Given the description of an element on the screen output the (x, y) to click on. 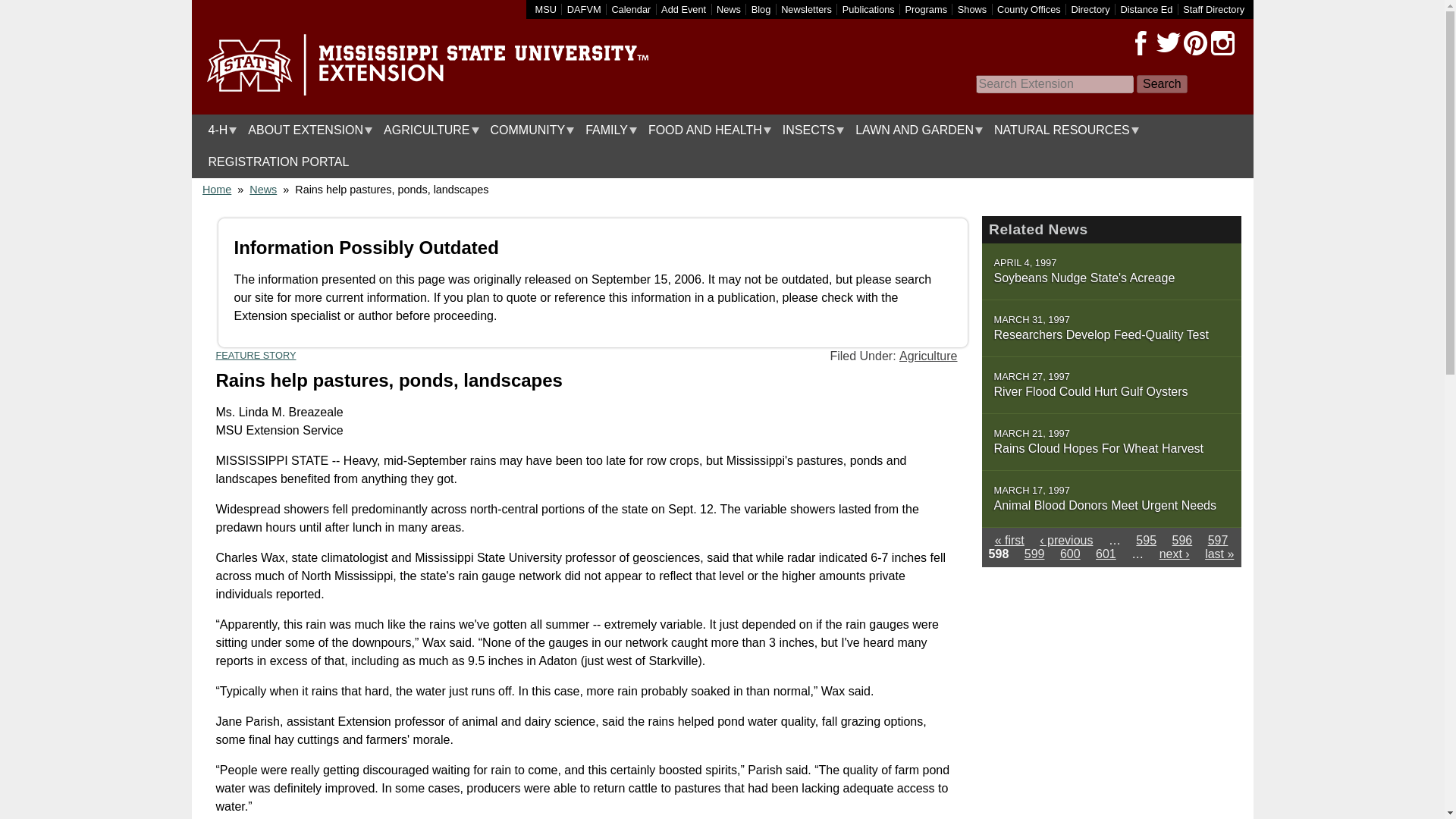
Publications (869, 9)
Search (1162, 84)
Find a county extension office (1029, 9)
Instagram (1221, 43)
DAFVM (584, 9)
Directory (1089, 9)
Staff Directory (1213, 9)
Calendar (630, 9)
Programs (926, 9)
Link to Mississippi State University (545, 9)
